Given the description of an element on the screen output the (x, y) to click on. 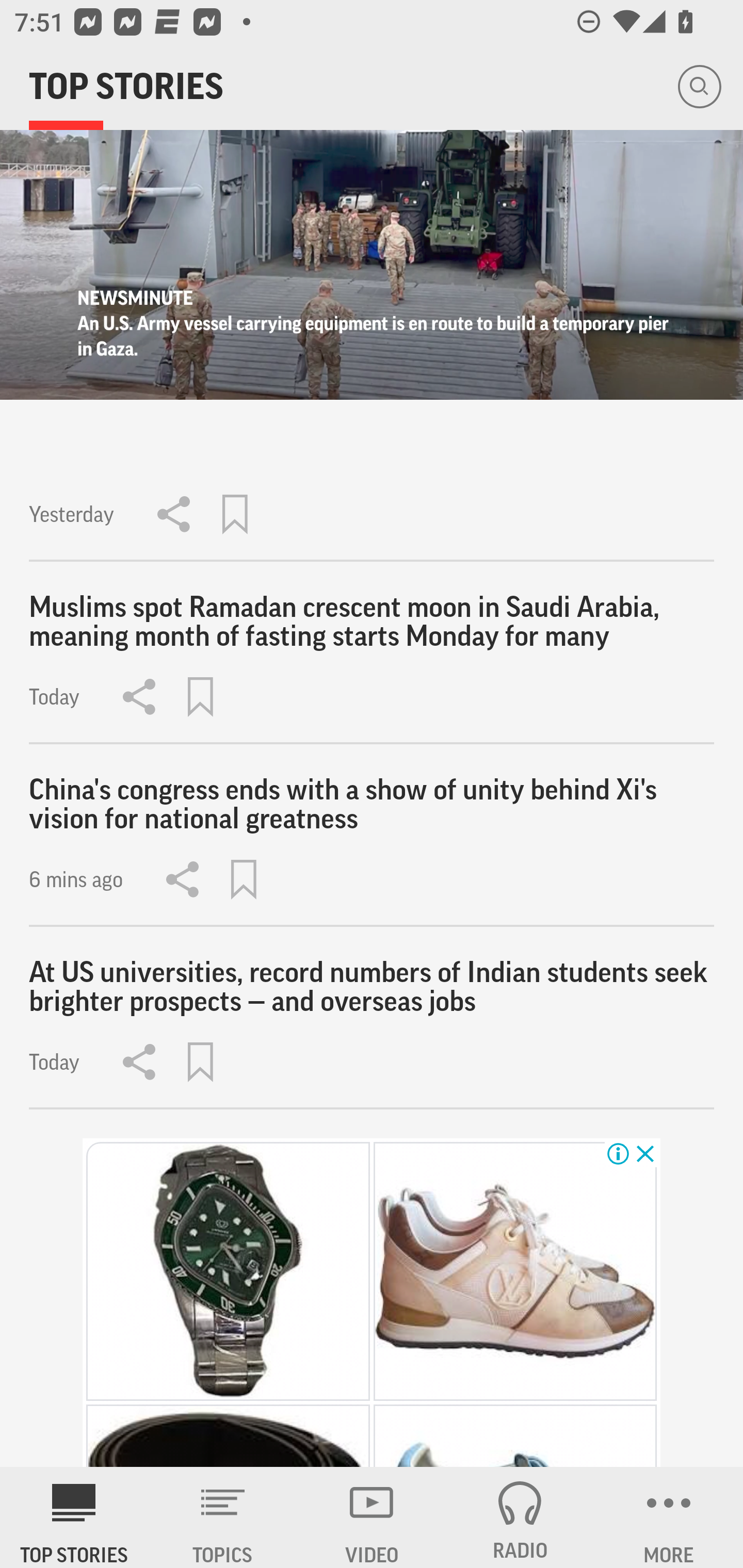
toggle controls Yesterday (371, 345)
%3Fproduct_id%3D38547587%26setLocale%3D18.en (226, 1270)
%3Fproduct_id%3D29140176%26setLocale%3D18.en (515, 1270)
AP News TOP STORIES (74, 1517)
TOPICS (222, 1517)
VIDEO (371, 1517)
RADIO (519, 1517)
MORE (668, 1517)
